Given the description of an element on the screen output the (x, y) to click on. 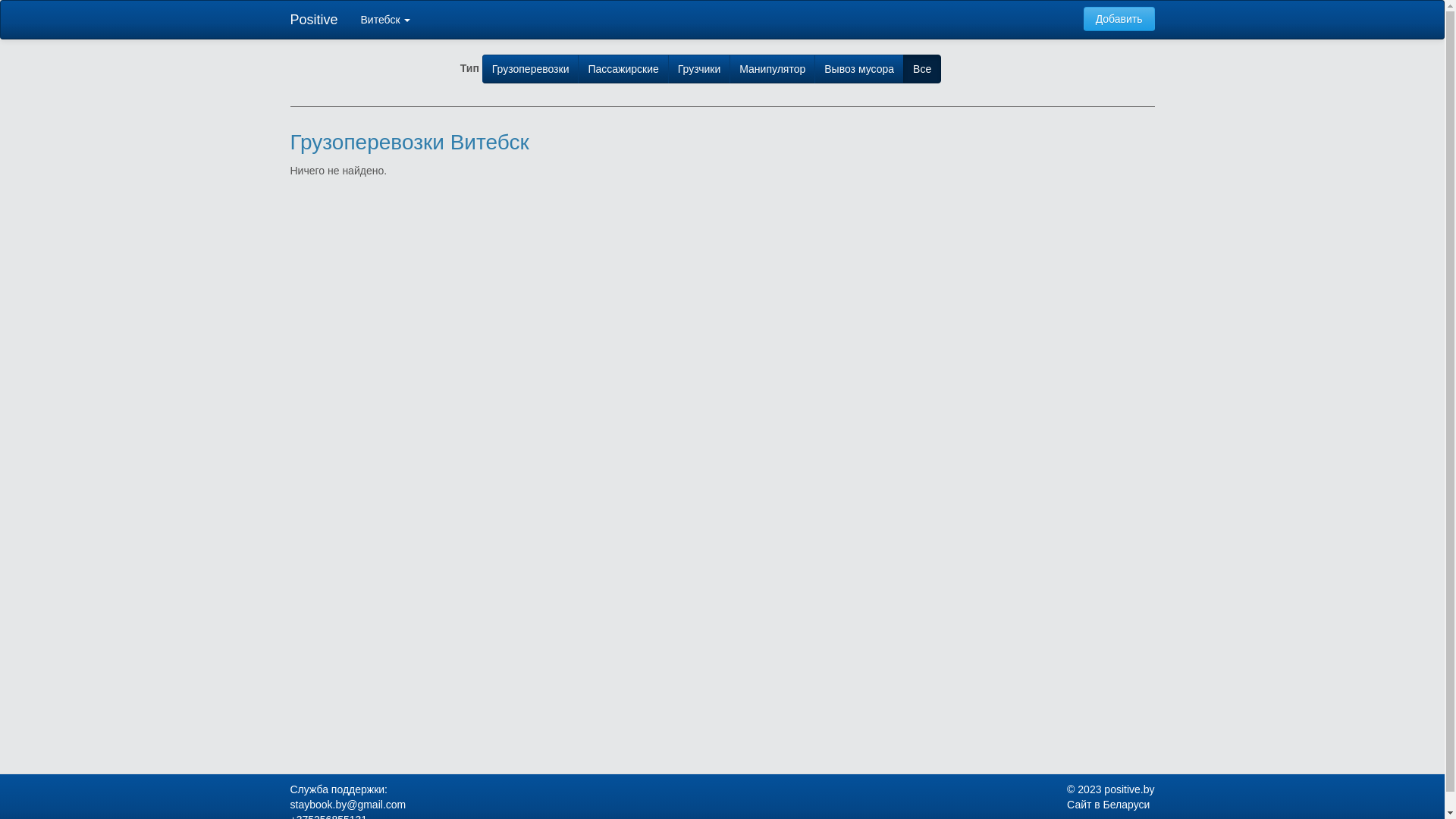
Positive Element type: text (314, 19)
